Given the description of an element on the screen output the (x, y) to click on. 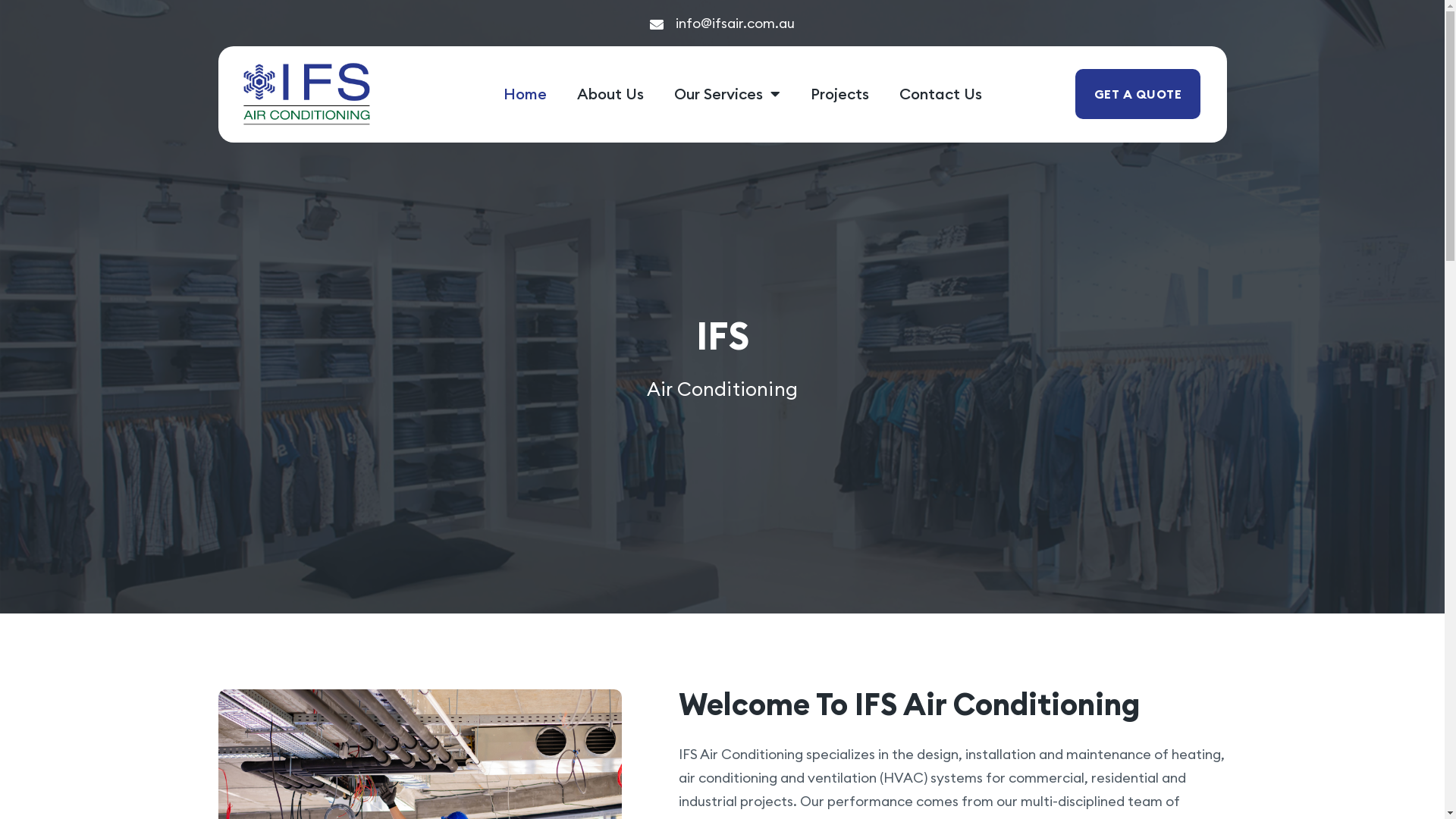
Projects Element type: text (839, 93)
info@ifsair.com.au Element type: text (722, 22)
Home Element type: text (524, 93)
GET A QUOTE Element type: text (1138, 94)
Our Services Element type: text (726, 93)
About Us Element type: text (609, 93)
Contact Us Element type: text (940, 93)
